Given the description of an element on the screen output the (x, y) to click on. 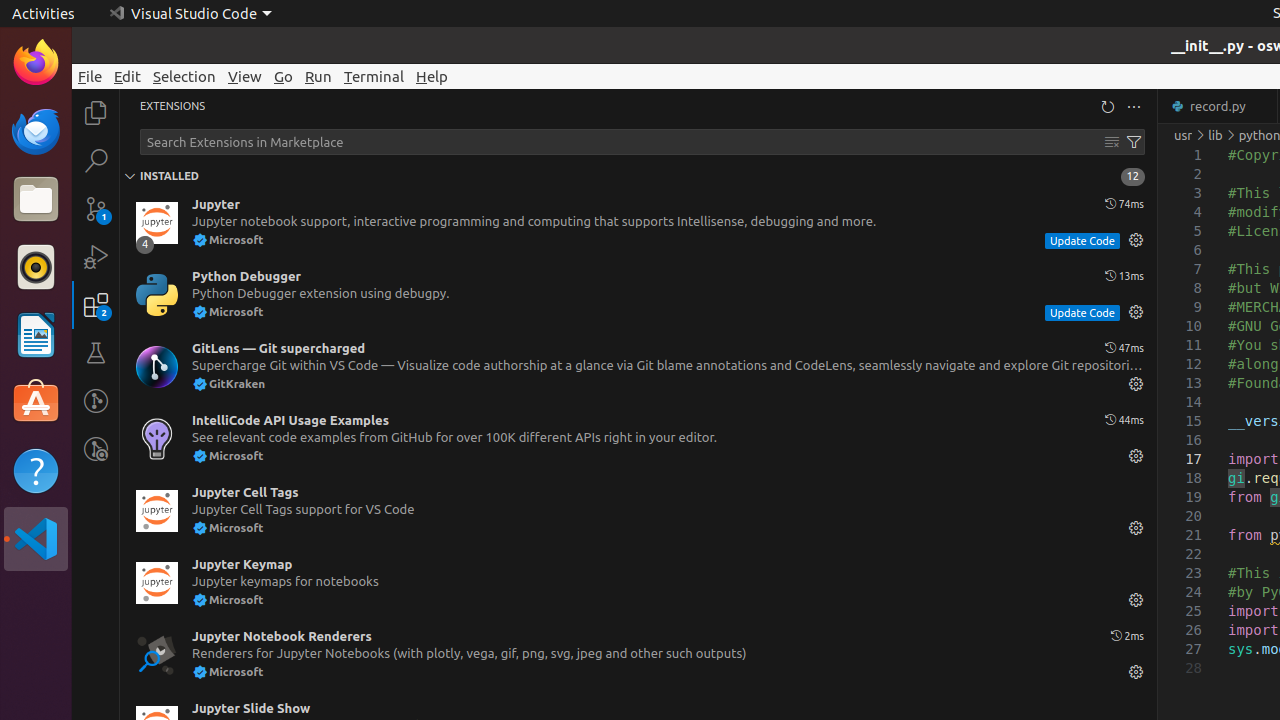
View Element type: push-button (245, 76)
Clear Extensions Search Results Element type: push-button (1112, 142)
Edit Element type: push-button (127, 76)
